Given the description of an element on the screen output the (x, y) to click on. 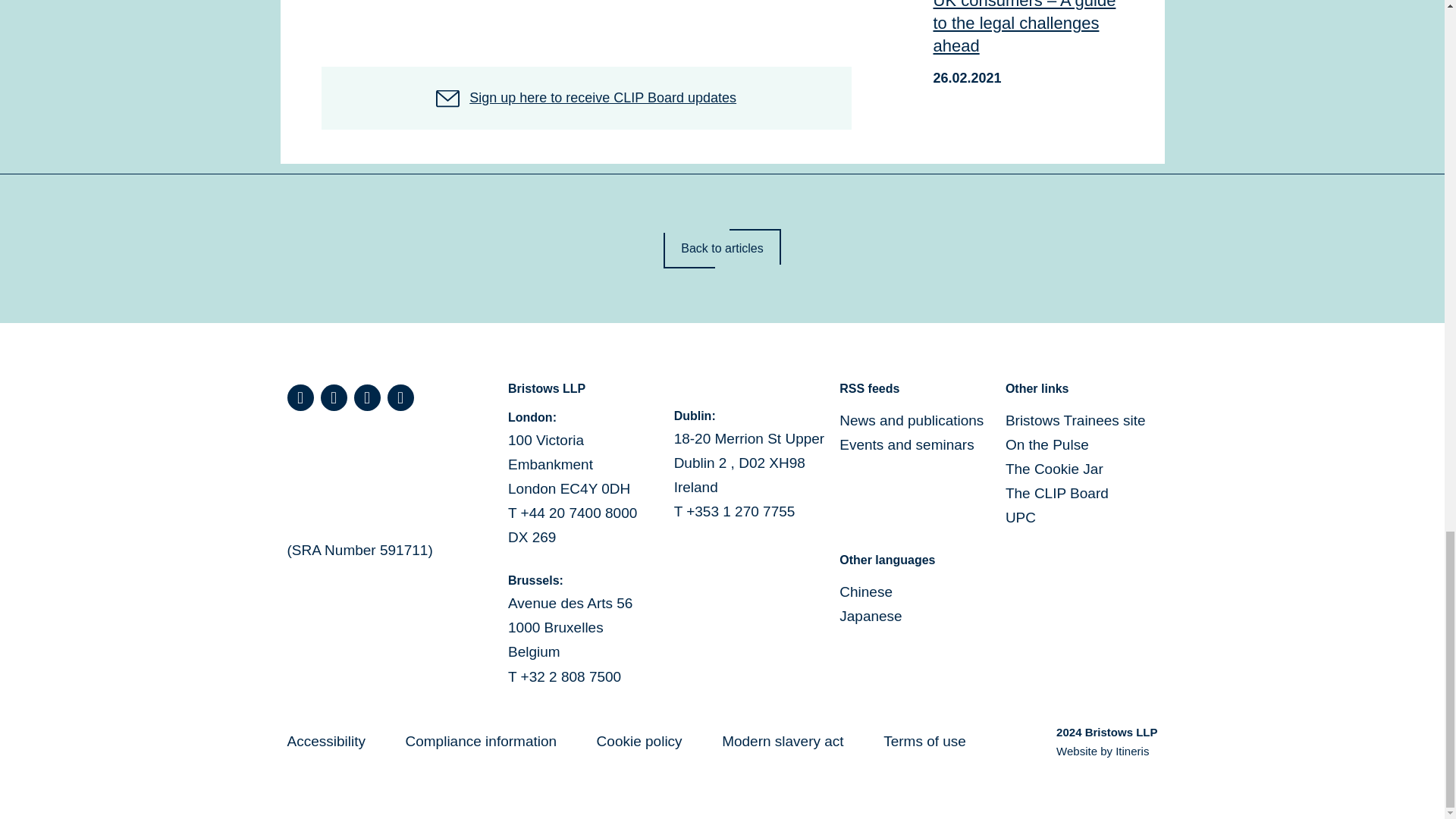
Solicitors Regulation Authority (365, 476)
